Given the description of an element on the screen output the (x, y) to click on. 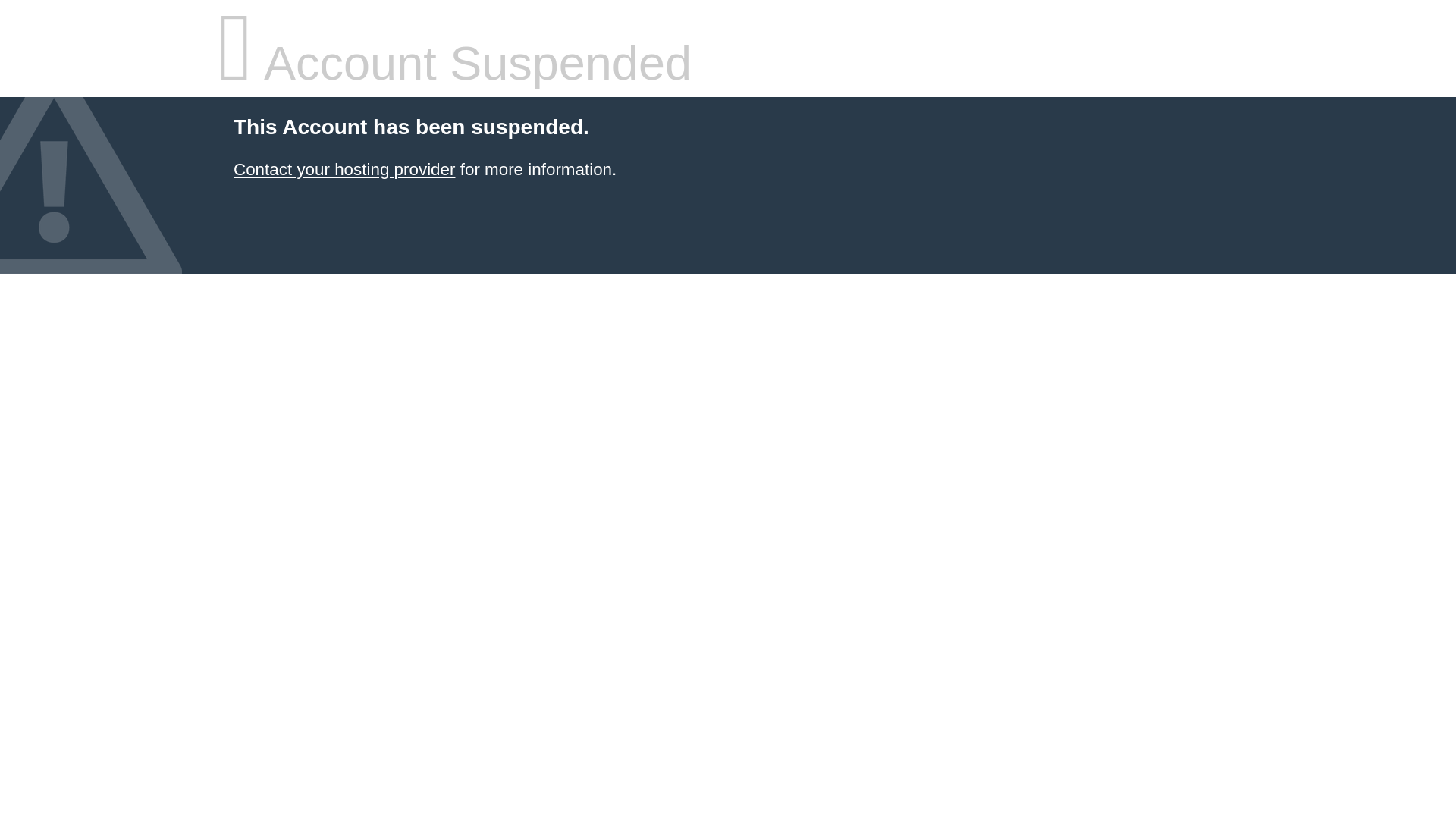
Contact your hosting provider Element type: text (344, 169)
